Given the description of an element on the screen output the (x, y) to click on. 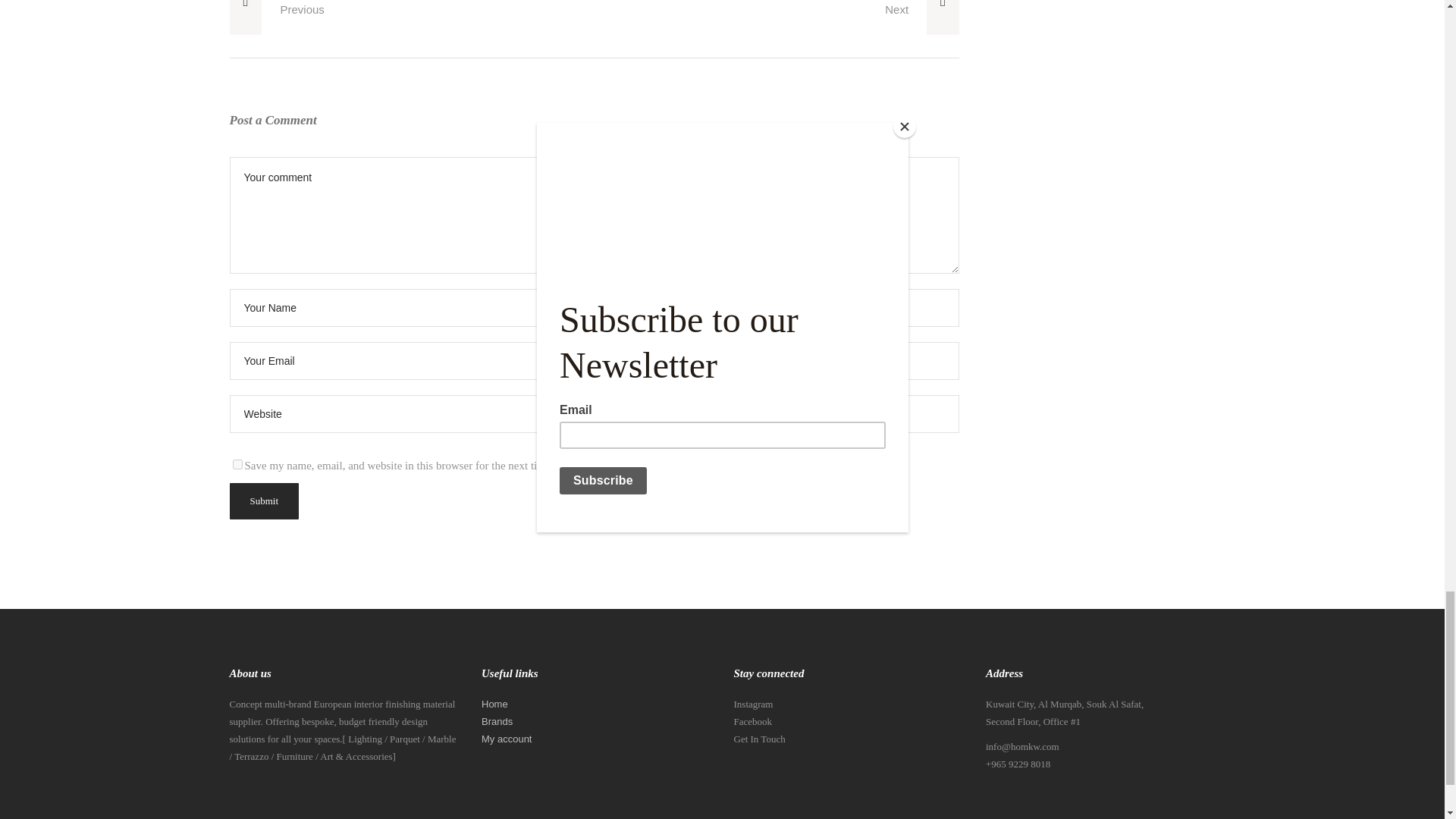
yes (236, 464)
Submit (263, 501)
